Given the description of an element on the screen output the (x, y) to click on. 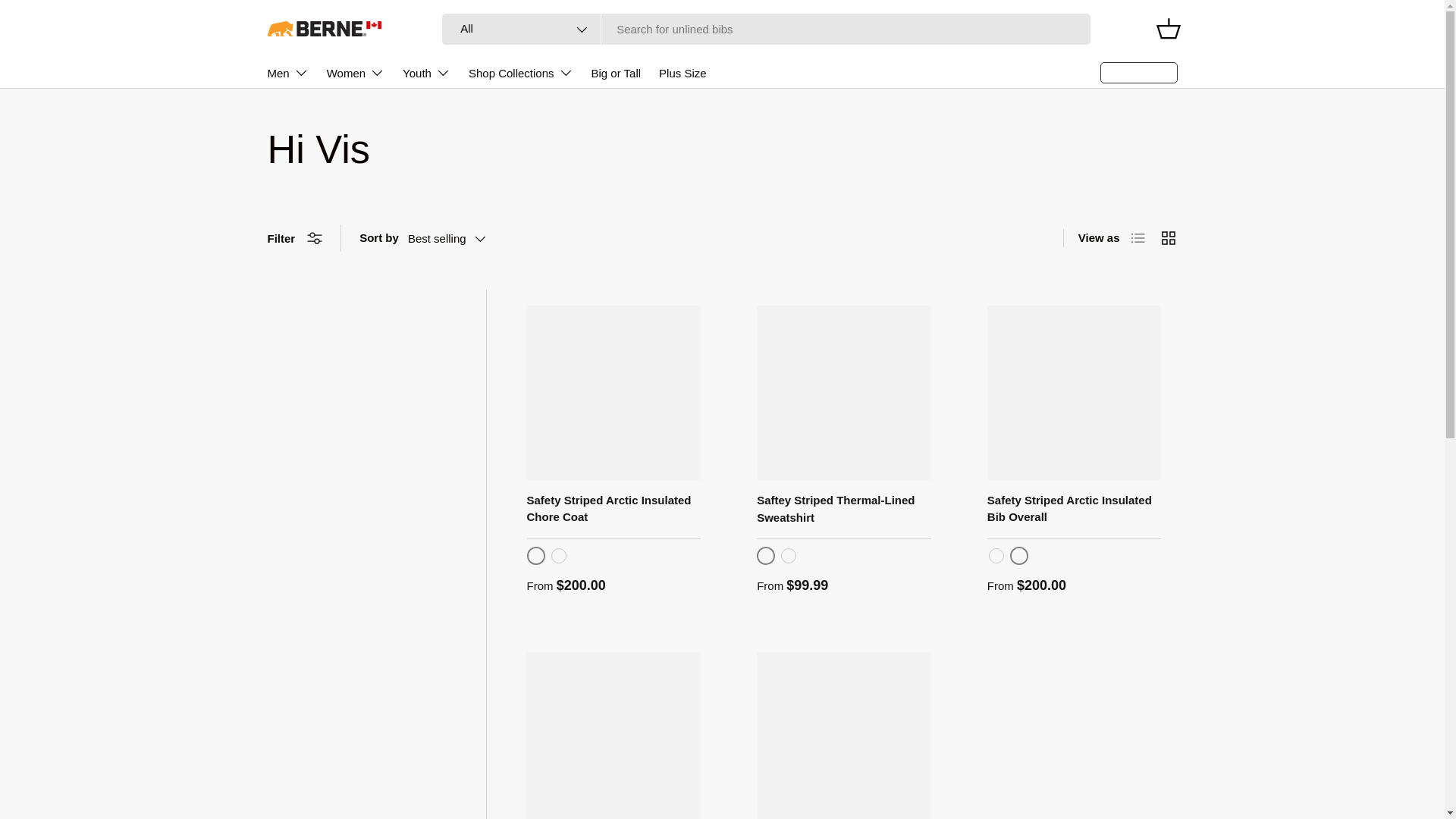
Plus Size (682, 72)
All (521, 29)
Women (355, 72)
Black (535, 555)
Men (286, 72)
Orange (765, 555)
Youth (426, 72)
Big or Tall (616, 72)
Orange (558, 555)
Orange (1018, 555)
Skip to content (68, 21)
